Given the description of an element on the screen output the (x, y) to click on. 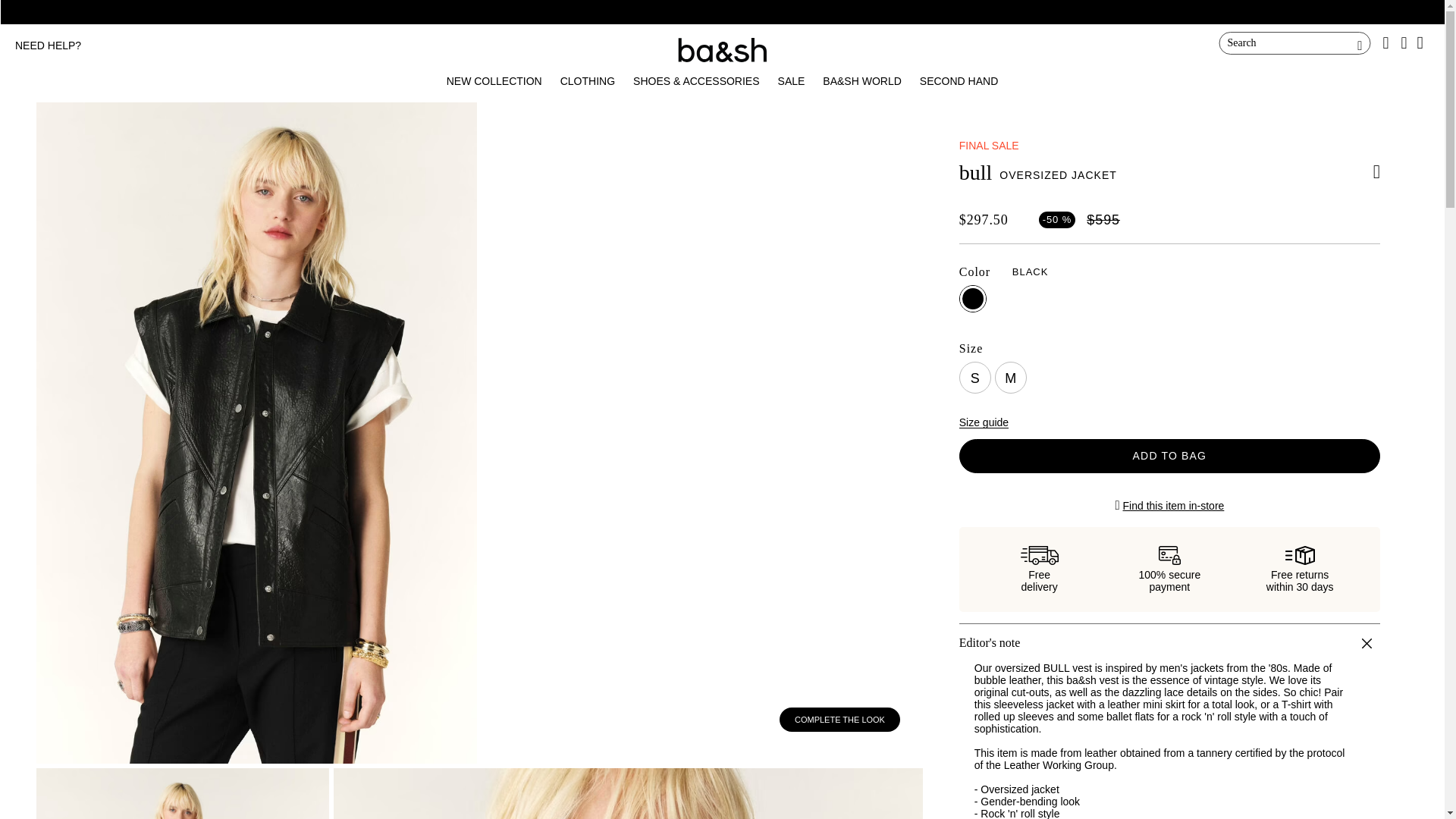
Log in (1266, 340)
NEED HELP? (47, 45)
NEW COLLECTION (494, 80)
Search (1295, 42)
CLOTHING (587, 80)
